Given the description of an element on the screen output the (x, y) to click on. 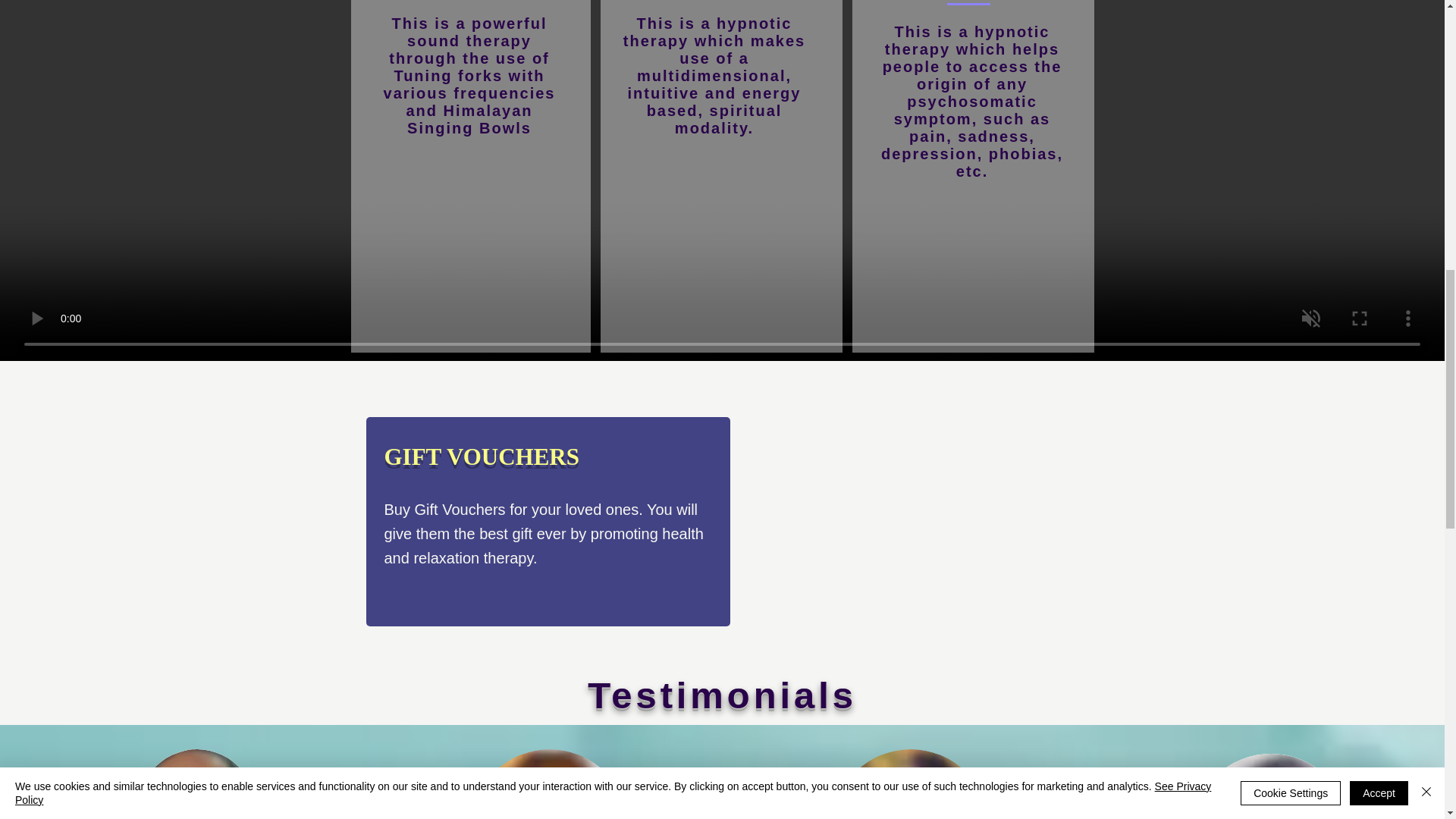
GettyImages-145680711.jpg (1270, 786)
